Given the description of an element on the screen output the (x, y) to click on. 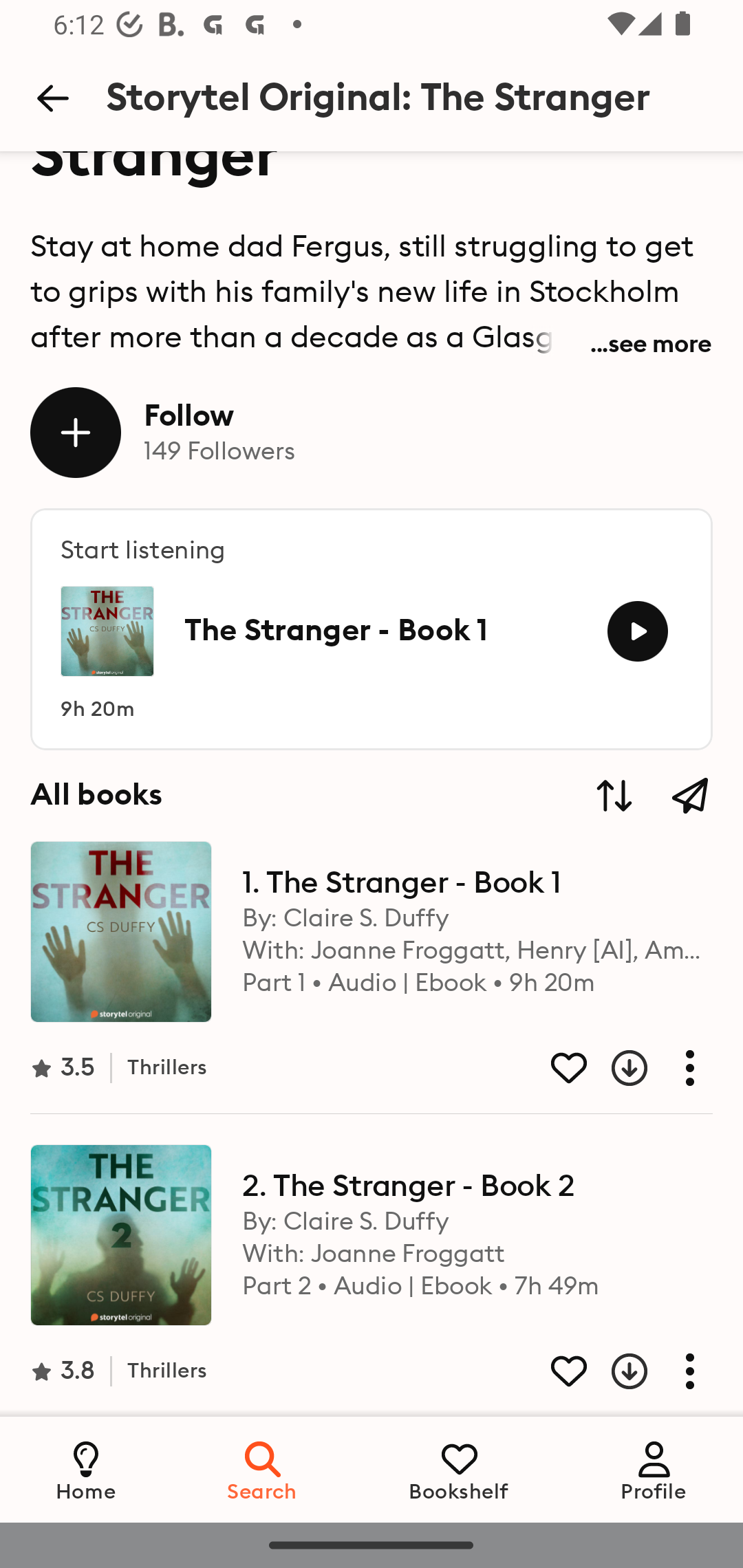
Back (52, 98)
Listen to book (637, 631)
Download (613, 1067)
Download (613, 1371)
Home (85, 1468)
Search (262, 1468)
Bookshelf (458, 1468)
Profile (653, 1468)
